Given the description of an element on the screen output the (x, y) to click on. 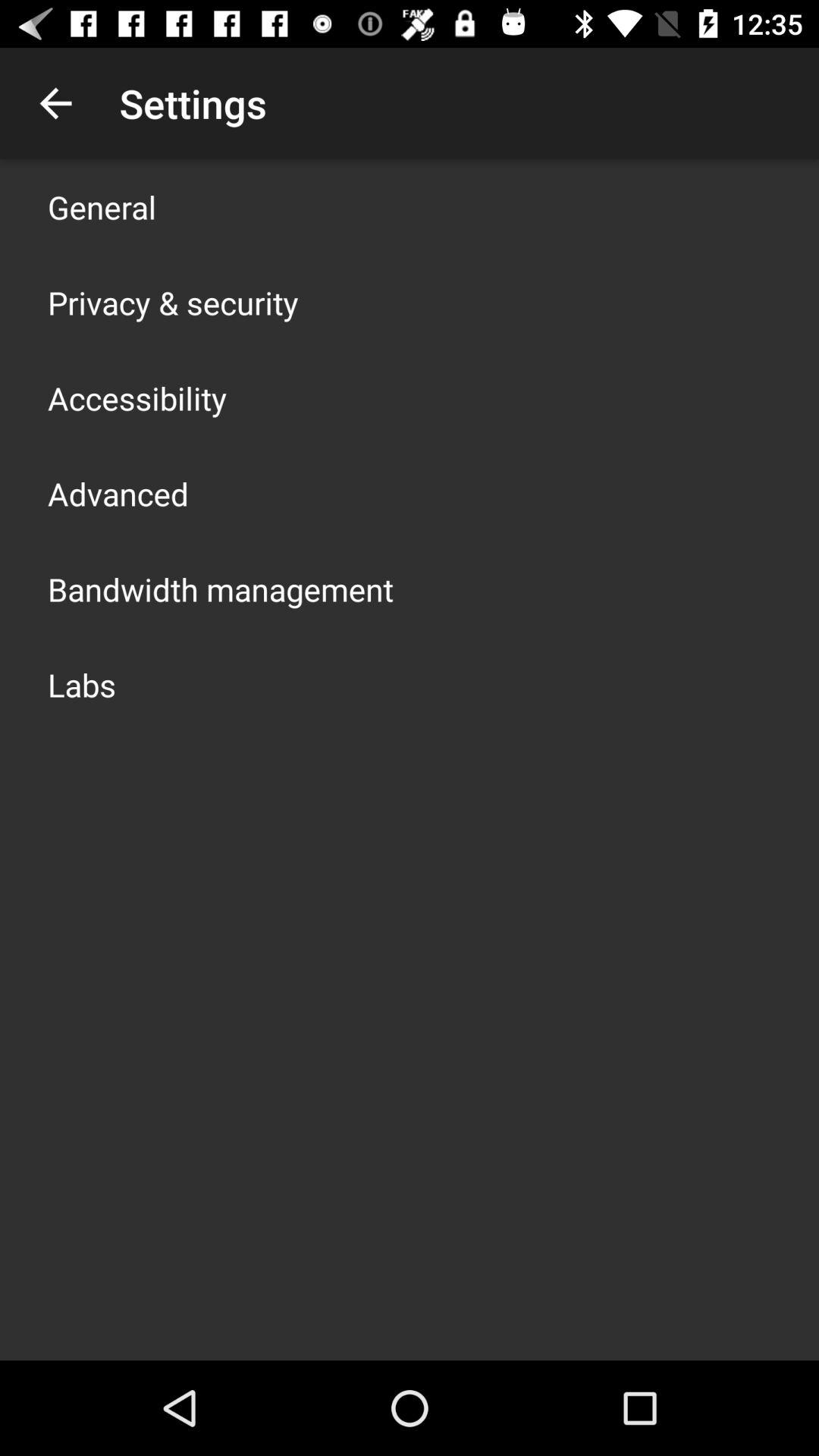
tap the app below the accessibility (117, 493)
